Given the description of an element on the screen output the (x, y) to click on. 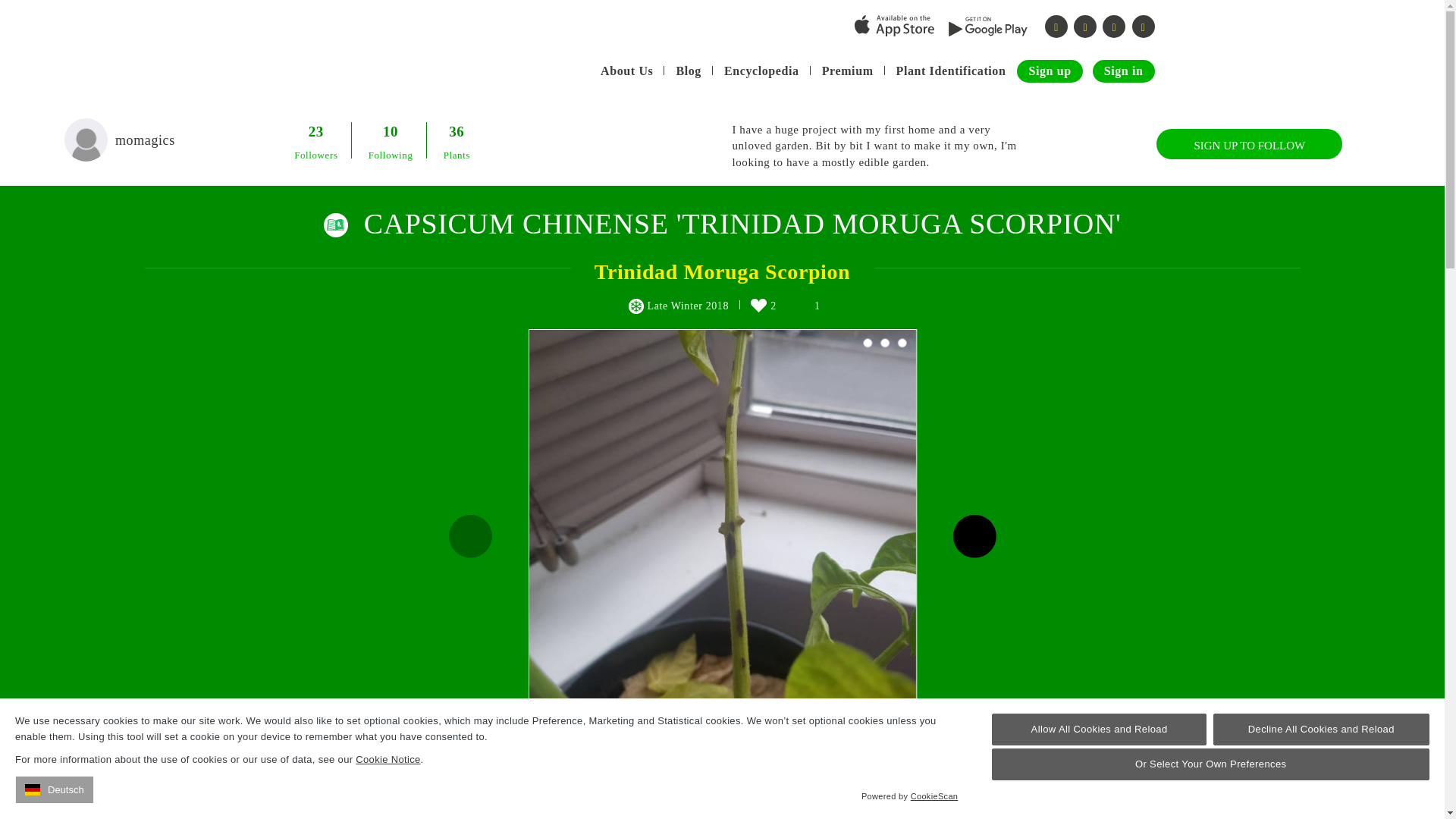
About Us (626, 71)
Sign in (1123, 70)
SIGN UP TO FOLLOW (1249, 143)
Season Icon Late Winter (635, 305)
Plant Identification (951, 71)
Blog (688, 71)
app store logo (894, 25)
About Us (626, 71)
Sign up (1048, 70)
Plant Name (336, 224)
